Given the description of an element on the screen output the (x, y) to click on. 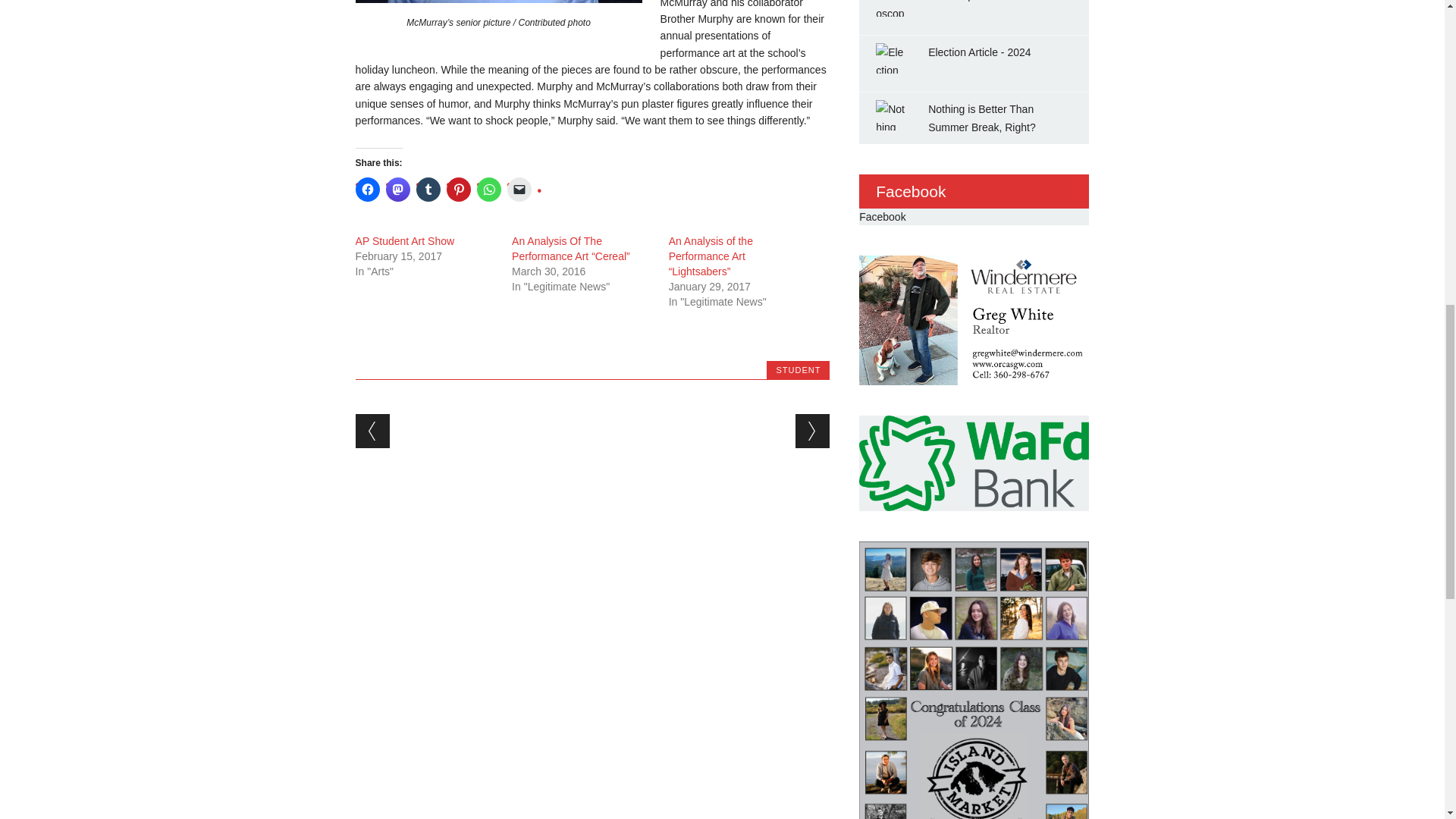
Click to share on WhatsApp (488, 189)
Click to share on Mastodon (397, 189)
AP Student Art Show (404, 241)
AP Student Art Show (404, 241)
Click to share on Pinterest (458, 189)
Click to share on Facebook (367, 189)
Click to email a link to a friend (518, 189)
STUDENT (798, 369)
Click to share on Tumblr (428, 189)
